Given the description of an element on the screen output the (x, y) to click on. 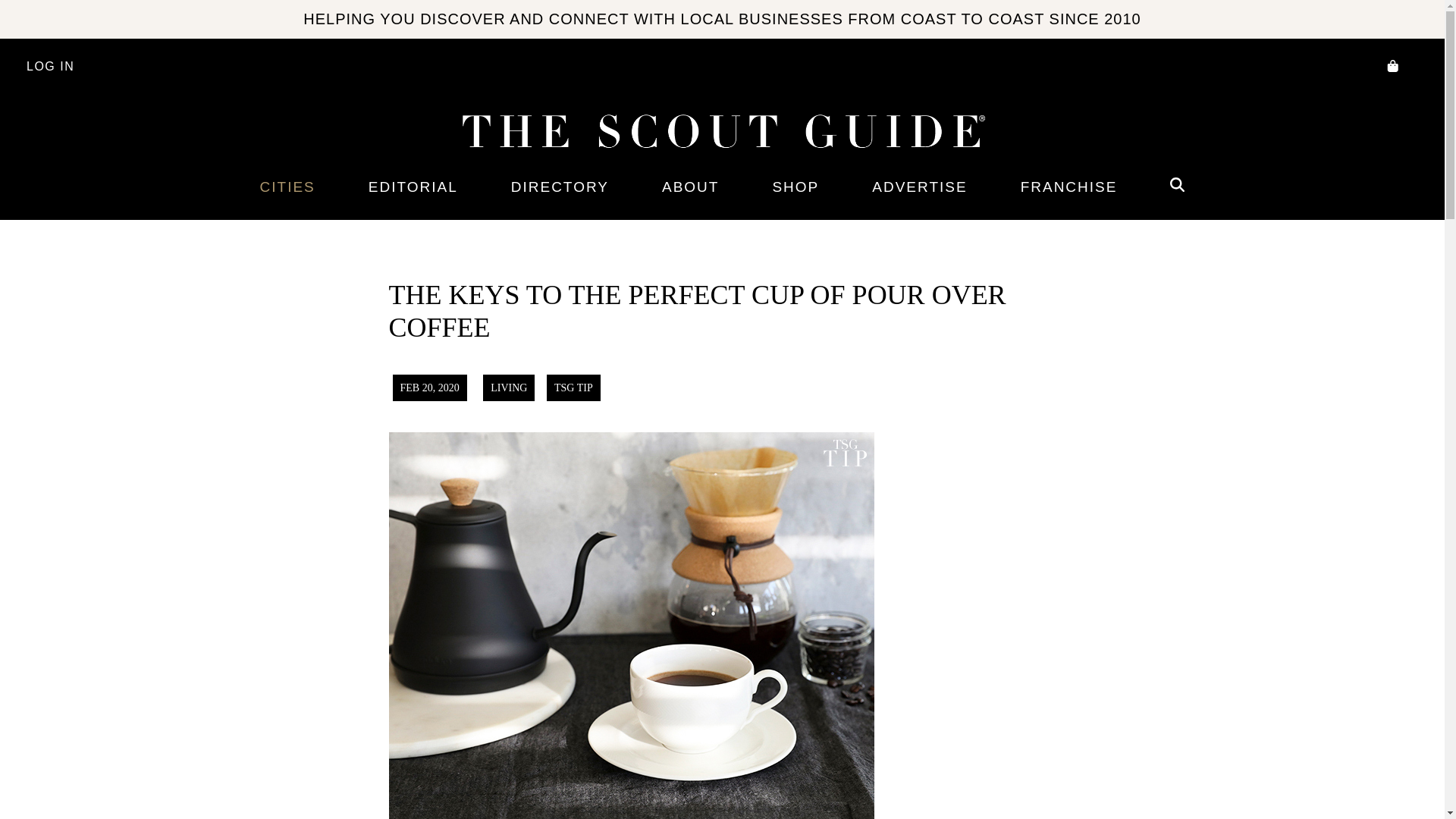
SHOP (795, 186)
TSG TIP (573, 387)
ADVERTISE (919, 186)
FRANCHISE (1069, 186)
CITIES (287, 186)
LOG IN (49, 66)
ABOUT (689, 186)
LIVING (508, 387)
DIRECTORY (559, 186)
EDITORIAL (413, 186)
